Given the description of an element on the screen output the (x, y) to click on. 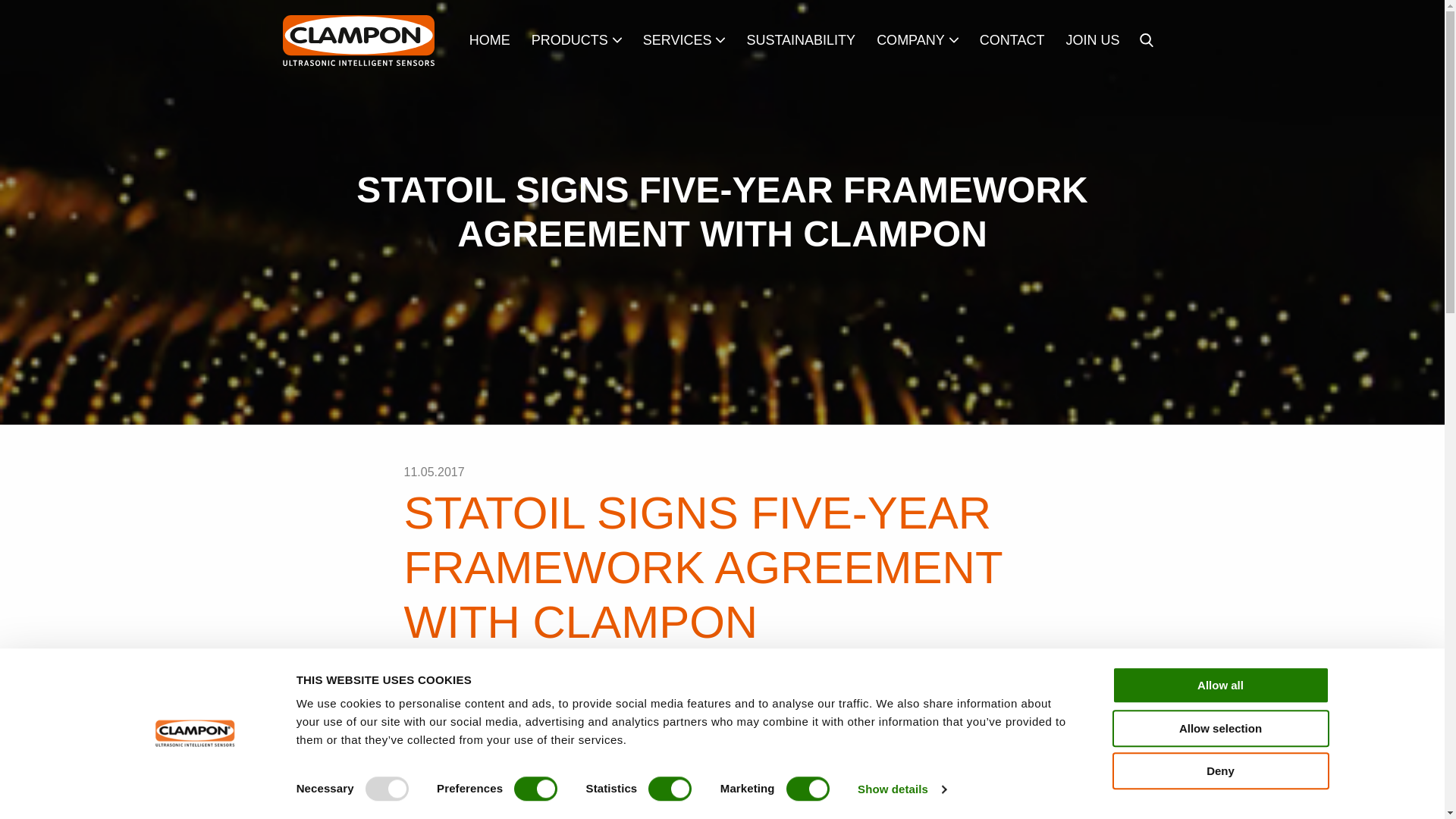
Allow selection (1219, 728)
Show details (900, 789)
Allow all (1219, 684)
Deny (1219, 770)
